Given the description of an element on the screen output the (x, y) to click on. 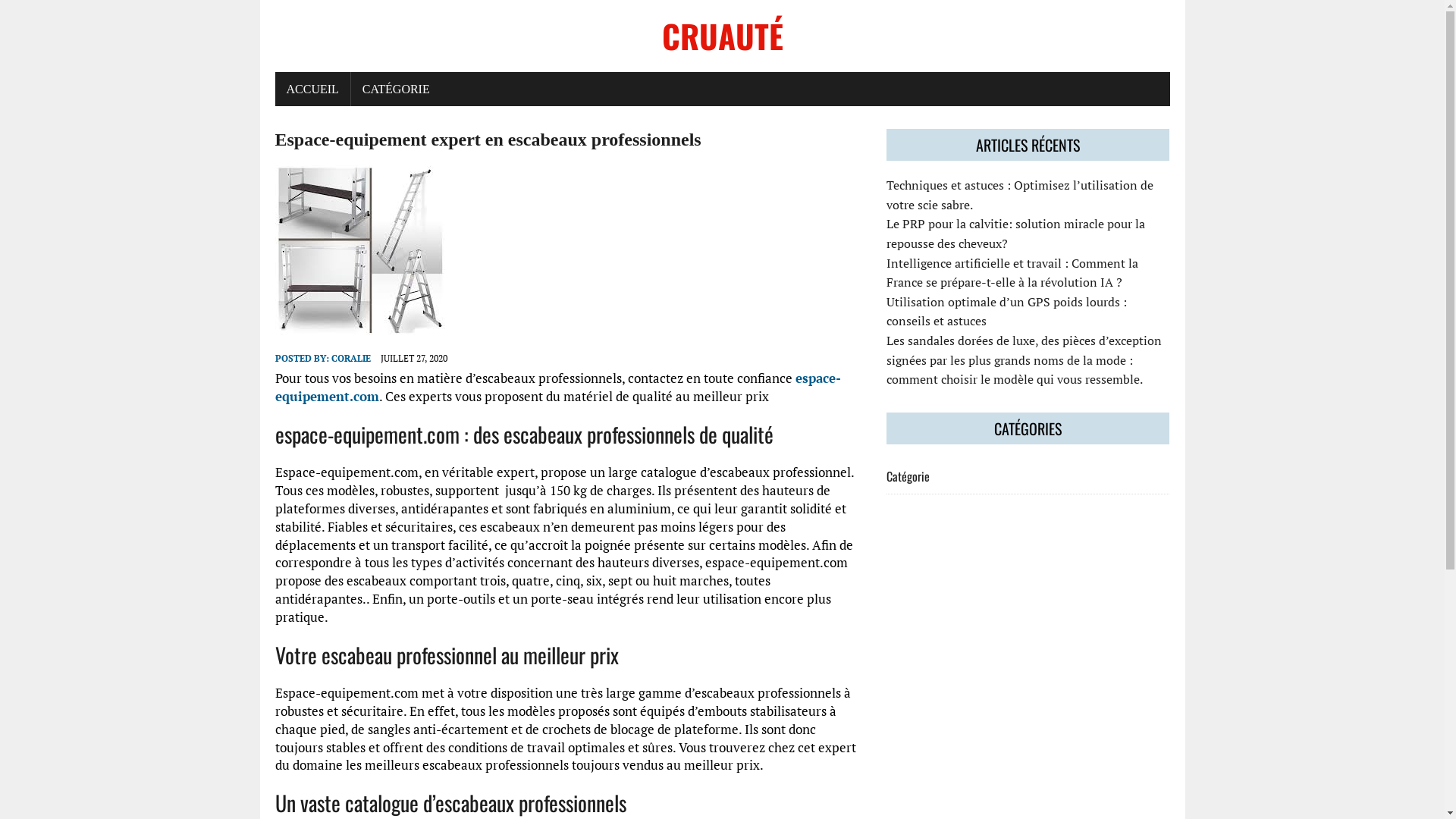
espace-equipement.com Element type: text (557, 386)
CORALIE Element type: text (350, 358)
ACCUEIL Element type: text (311, 89)
